Given the description of an element on the screen output the (x, y) to click on. 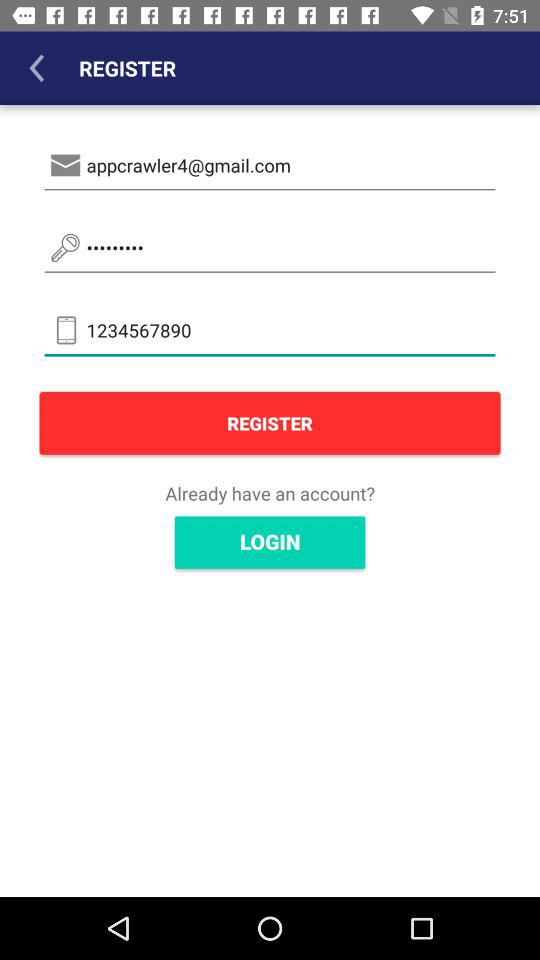
click the item above the 1234567890 (269, 248)
